Given the description of an element on the screen output the (x, y) to click on. 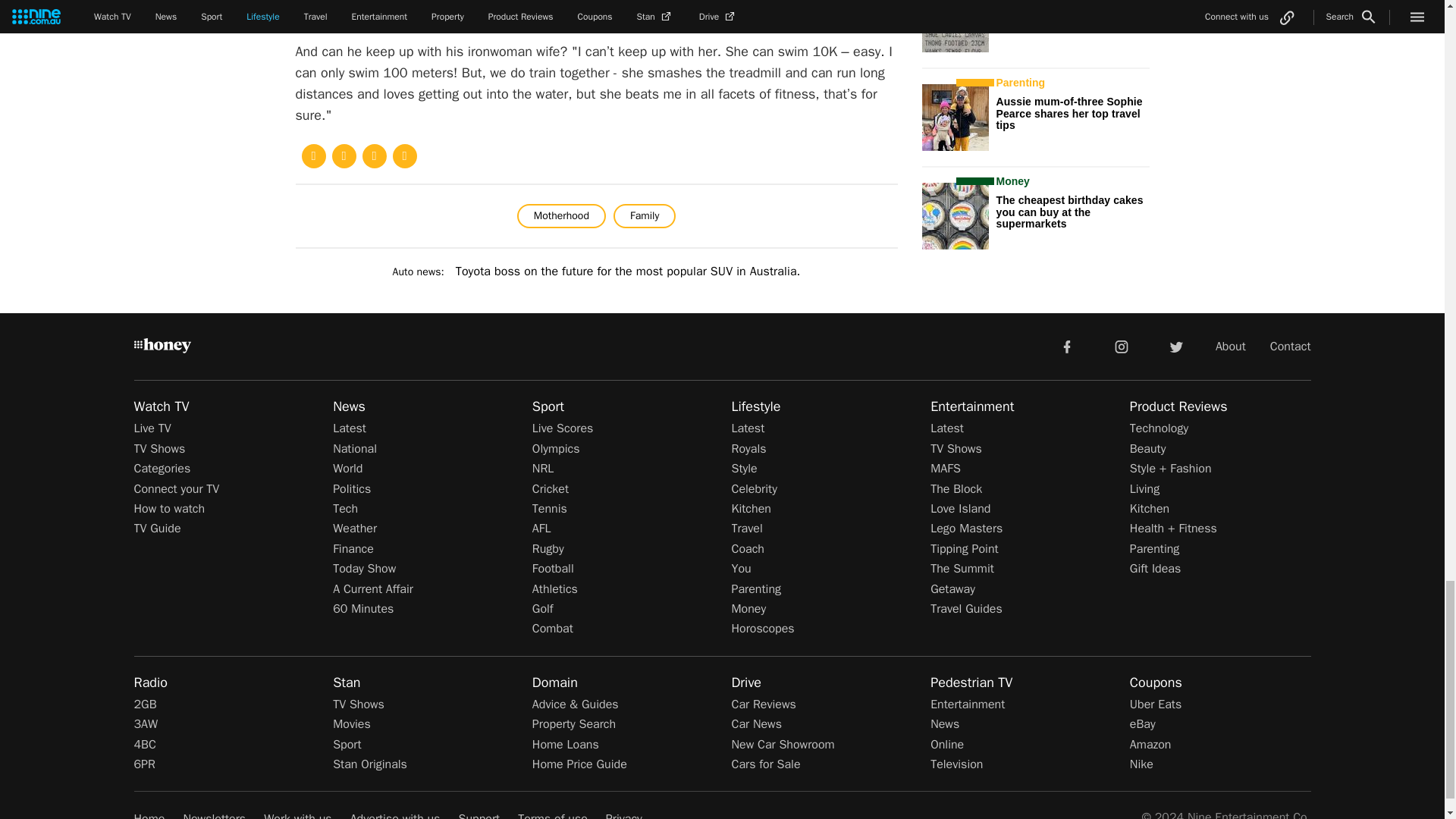
Motherhood (560, 215)
facebook (1066, 346)
twitter (1175, 346)
Family (643, 215)
instagram (1121, 346)
